Given the description of an element on the screen output the (x, y) to click on. 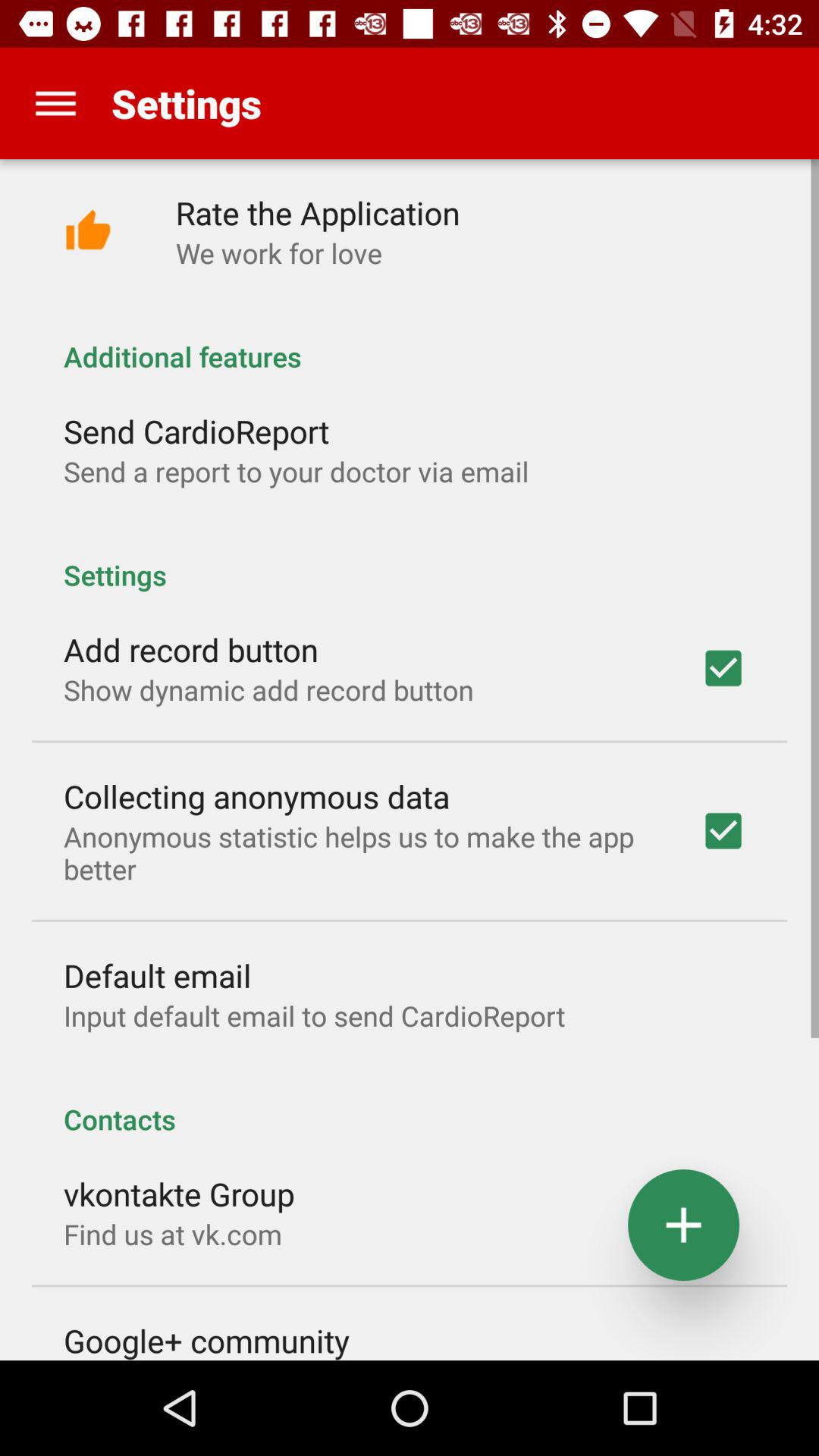
choose the icon below settings icon (317, 212)
